Given the description of an element on the screen output the (x, y) to click on. 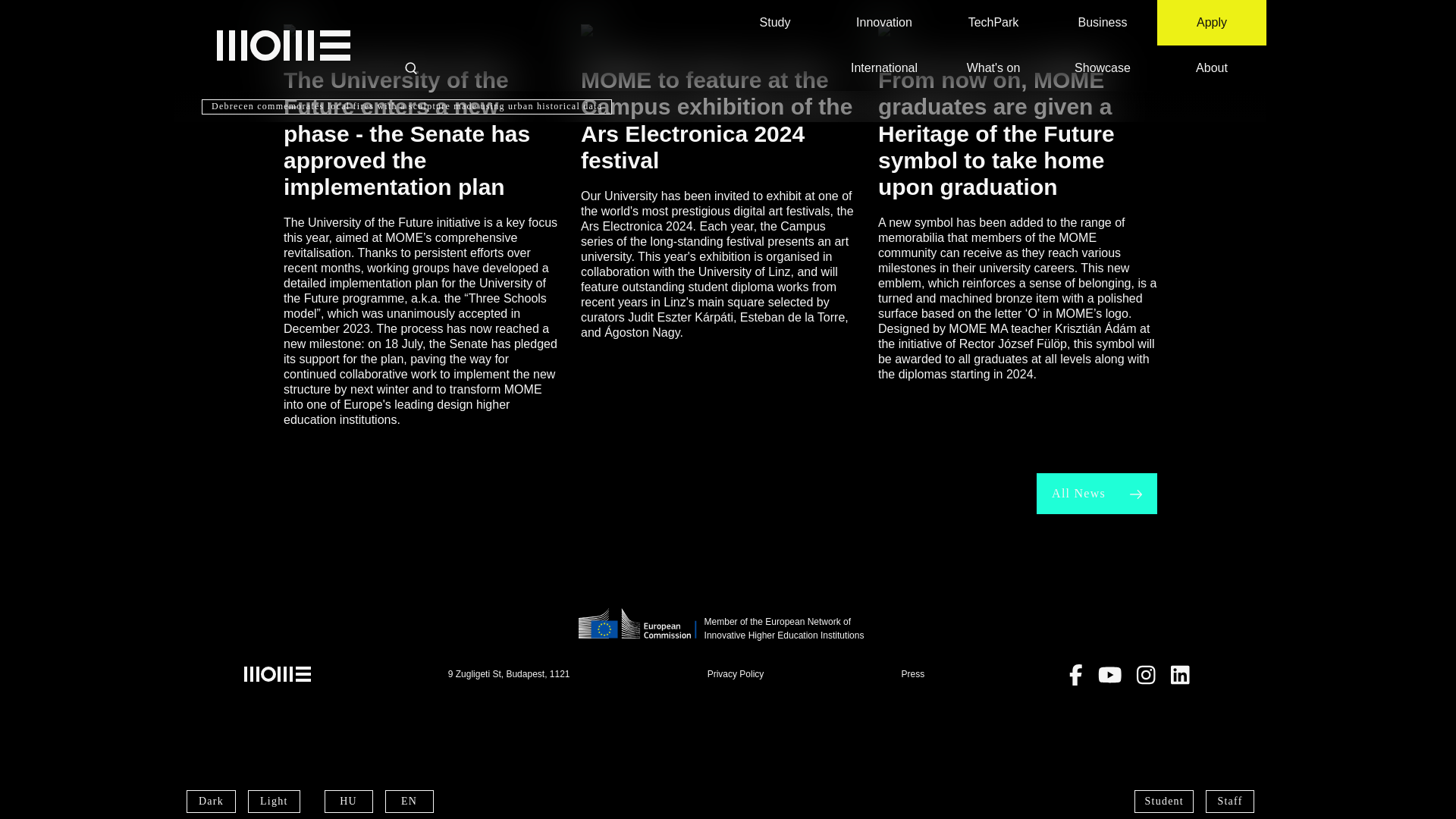
Privacy Policy (735, 673)
Press (912, 674)
All News (1096, 493)
